Given the description of an element on the screen output the (x, y) to click on. 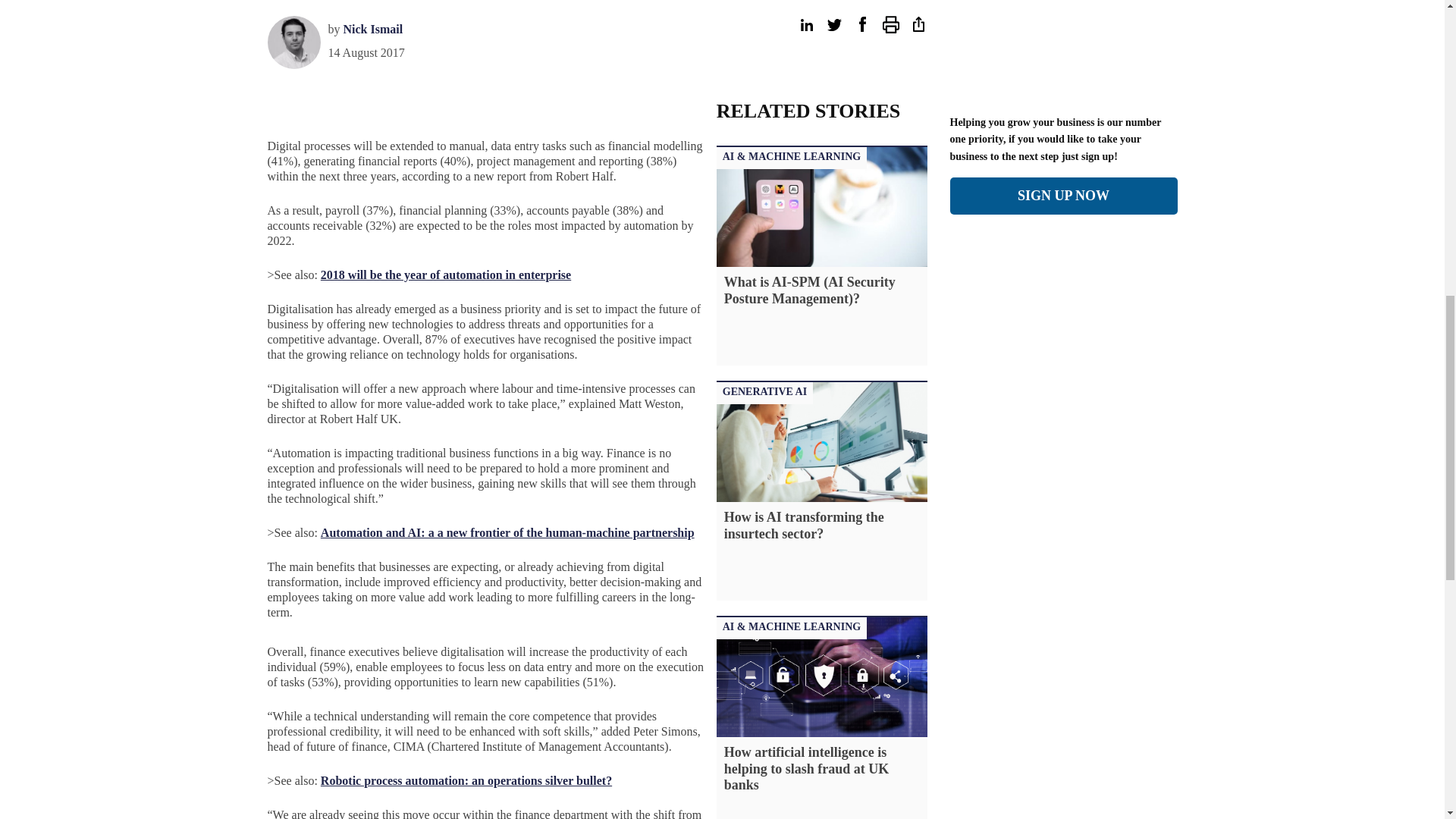
Print this article (890, 24)
Tweet this article (835, 24)
Share on Facebook (861, 24)
Share on LinkedIn (805, 24)
